Given the description of an element on the screen output the (x, y) to click on. 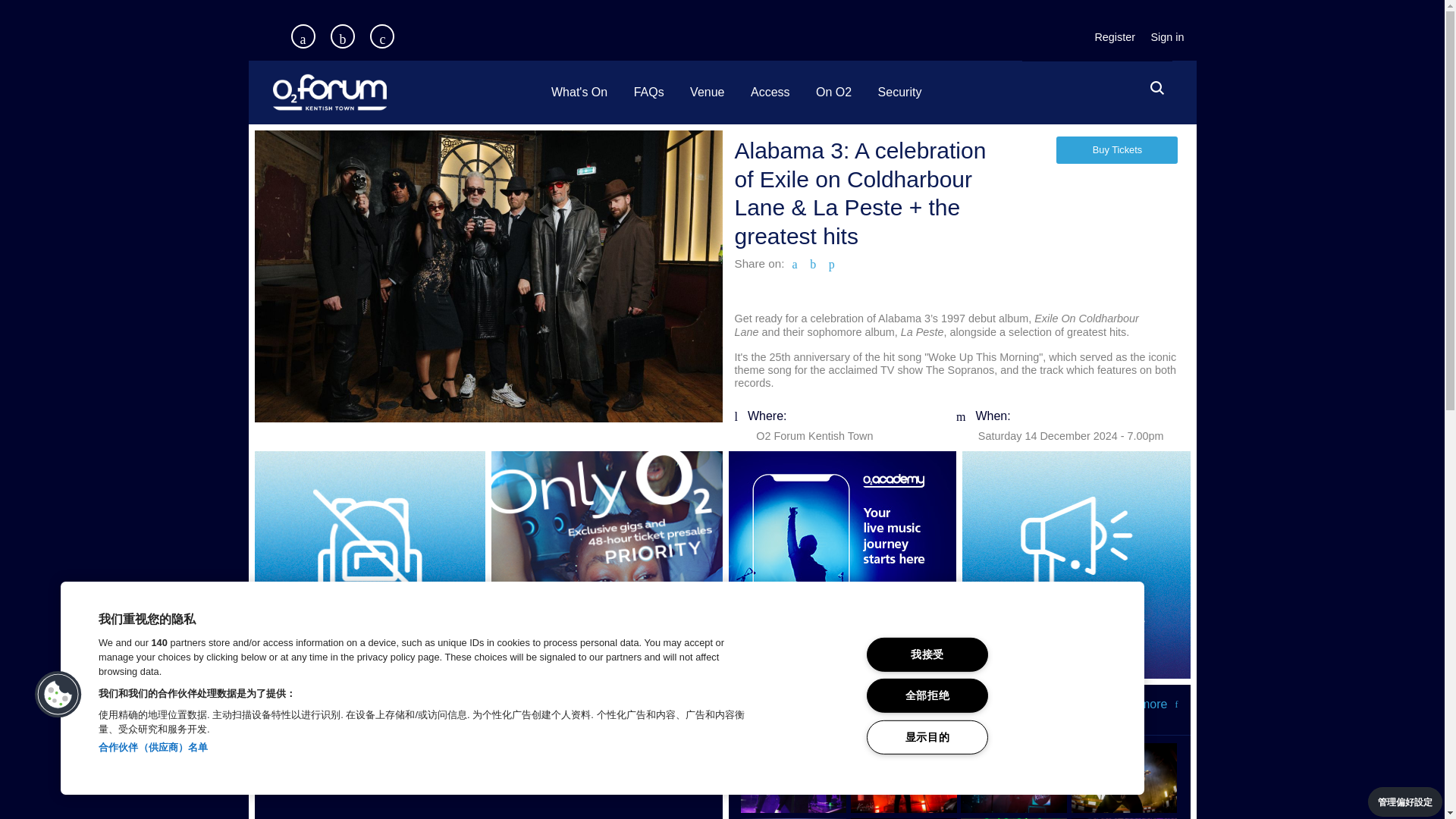
Register (1114, 37)
O2 Forum Kentish Town (385, 92)
Enter the terms you wish to search for. (1153, 88)
What's On (579, 92)
Cookies Button (57, 694)
Sign in (1166, 37)
